Given the description of an element on the screen output the (x, y) to click on. 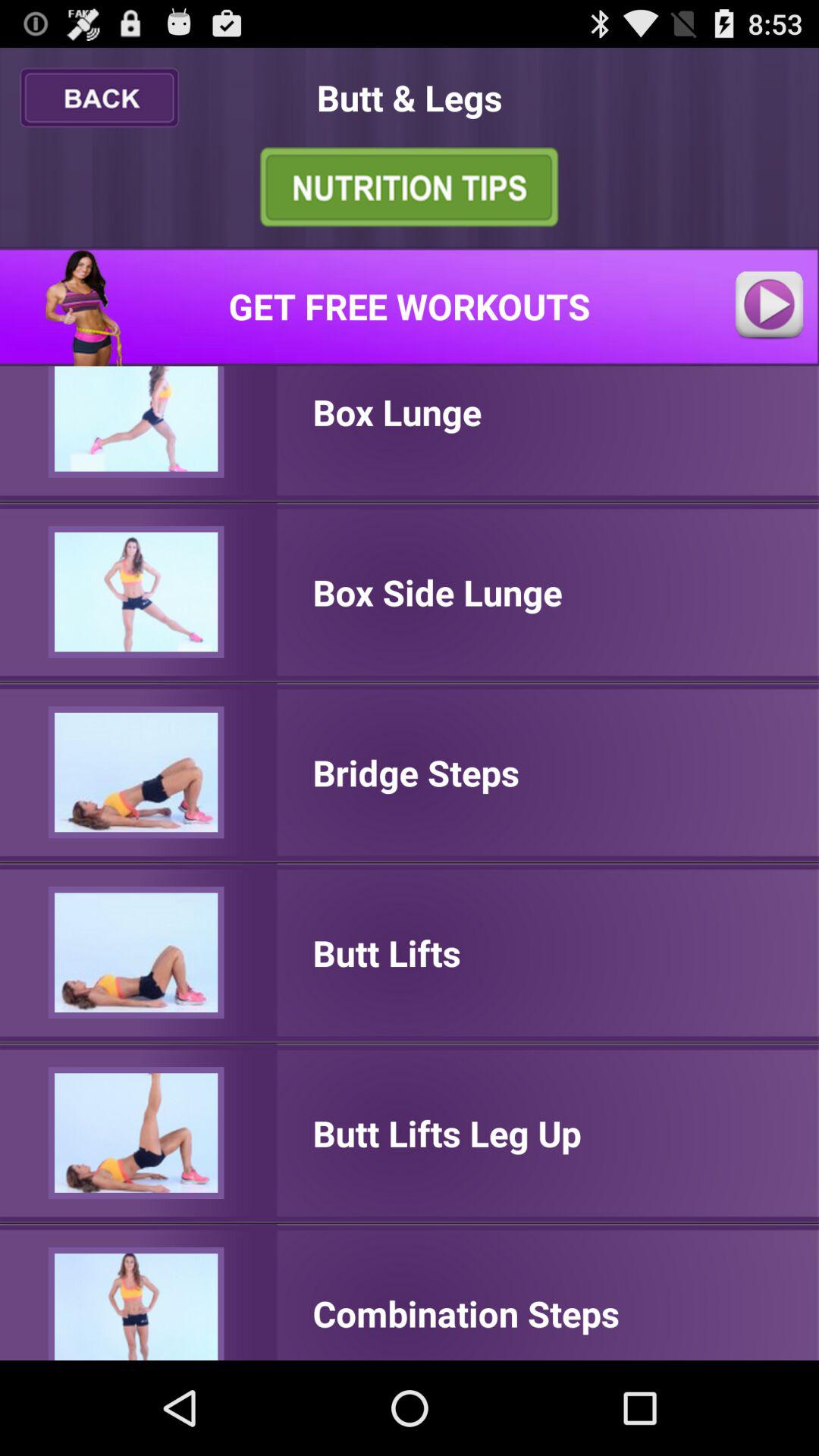
flip until the bridge steps item (415, 772)
